Given the description of an element on the screen output the (x, y) to click on. 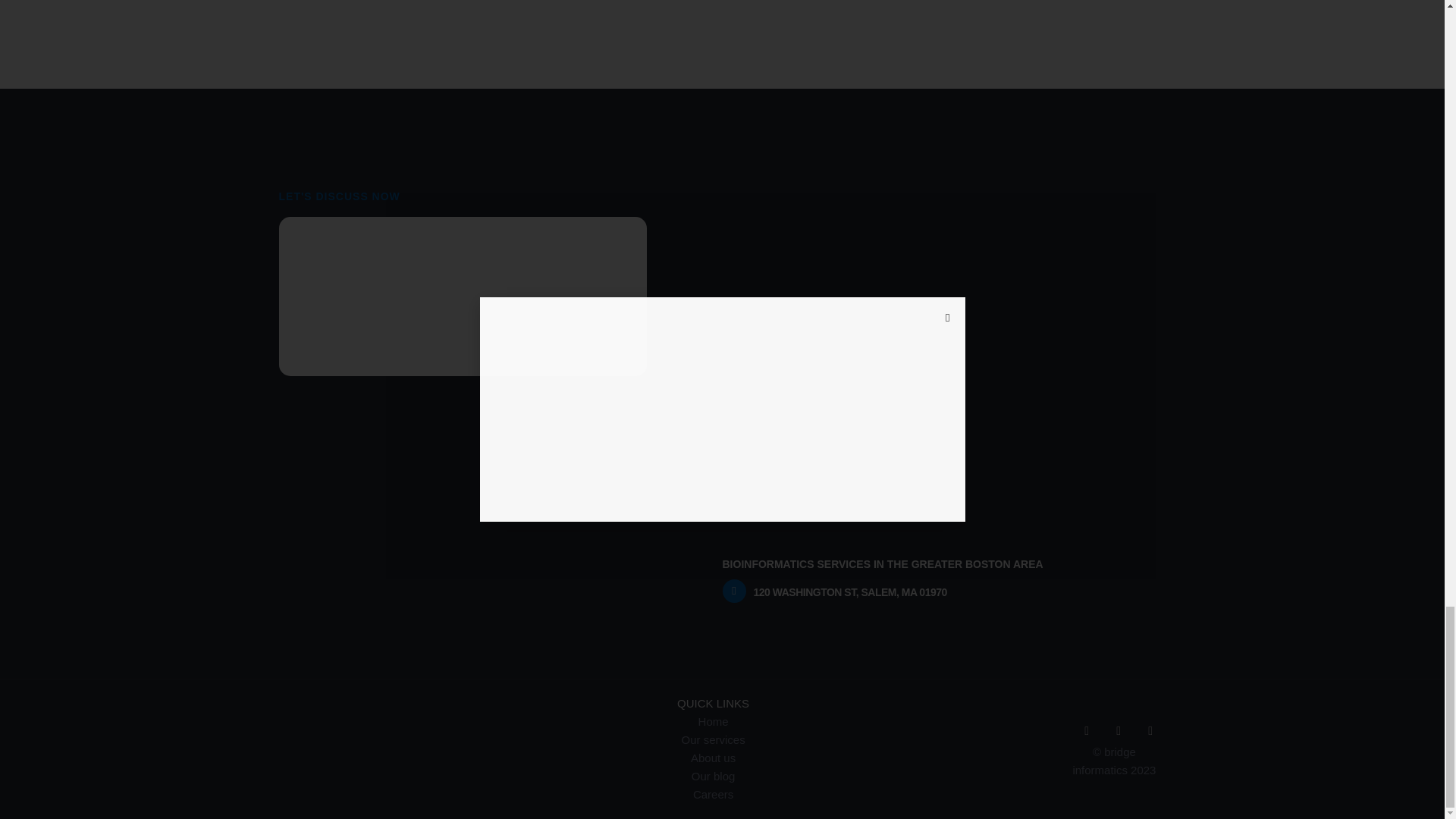
Web Forms (462, 295)
